Given the description of an element on the screen output the (x, y) to click on. 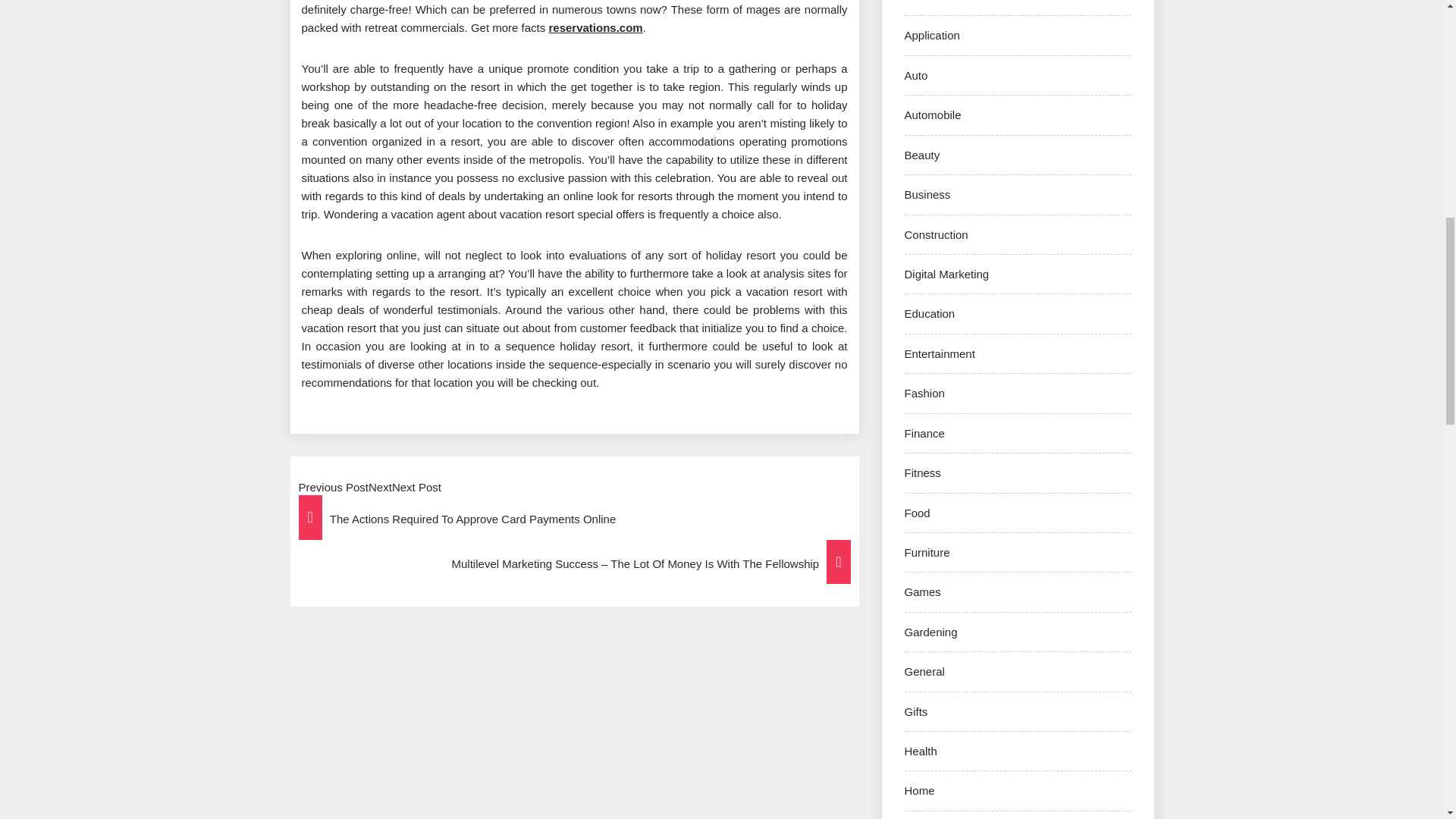
General (923, 671)
Application (931, 34)
reservations.com (595, 27)
Auto (915, 74)
Entertainment (939, 353)
Construction (936, 234)
Fitness (922, 472)
Beauty (921, 154)
Anime (920, 1)
Fashion (923, 392)
Finance (923, 432)
Furniture (926, 552)
Education (929, 313)
Business (927, 194)
Gardening (930, 631)
